Given the description of an element on the screen output the (x, y) to click on. 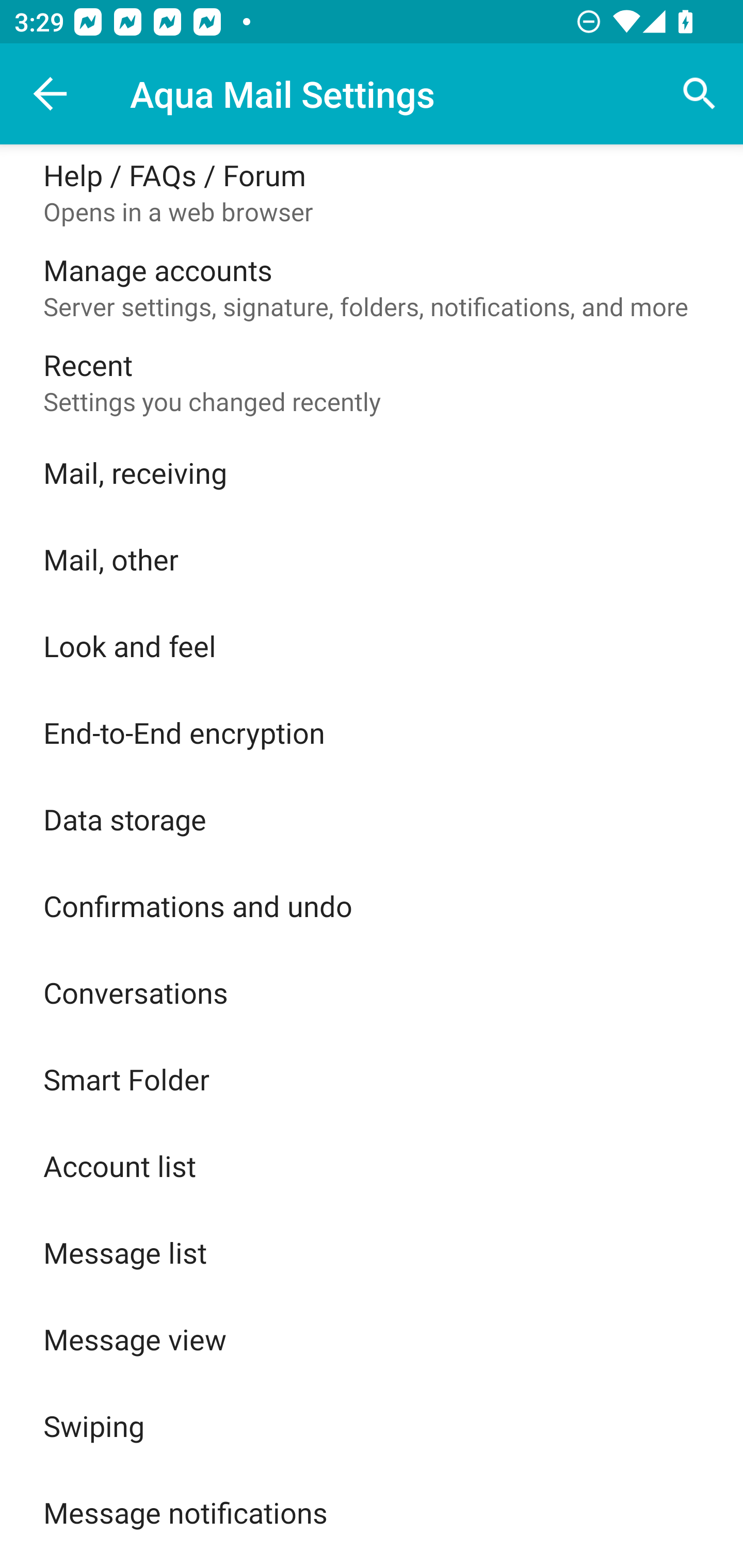
Navigate up (50, 93)
Search (699, 93)
Help / FAQs / Forum Opens in a web browser (371, 191)
Recent Settings you changed recently (371, 381)
Mail, receiving (371, 472)
Mail, other (371, 558)
Look and feel (371, 645)
End-to-End encryption (371, 732)
Data storage (371, 819)
Confirmations and undo (371, 905)
Conversations (371, 992)
Smart Folder (371, 1079)
Account list (371, 1165)
Message list (371, 1251)
Message view (371, 1338)
Swiping (371, 1425)
Message notifications (371, 1512)
